Given the description of an element on the screen output the (x, y) to click on. 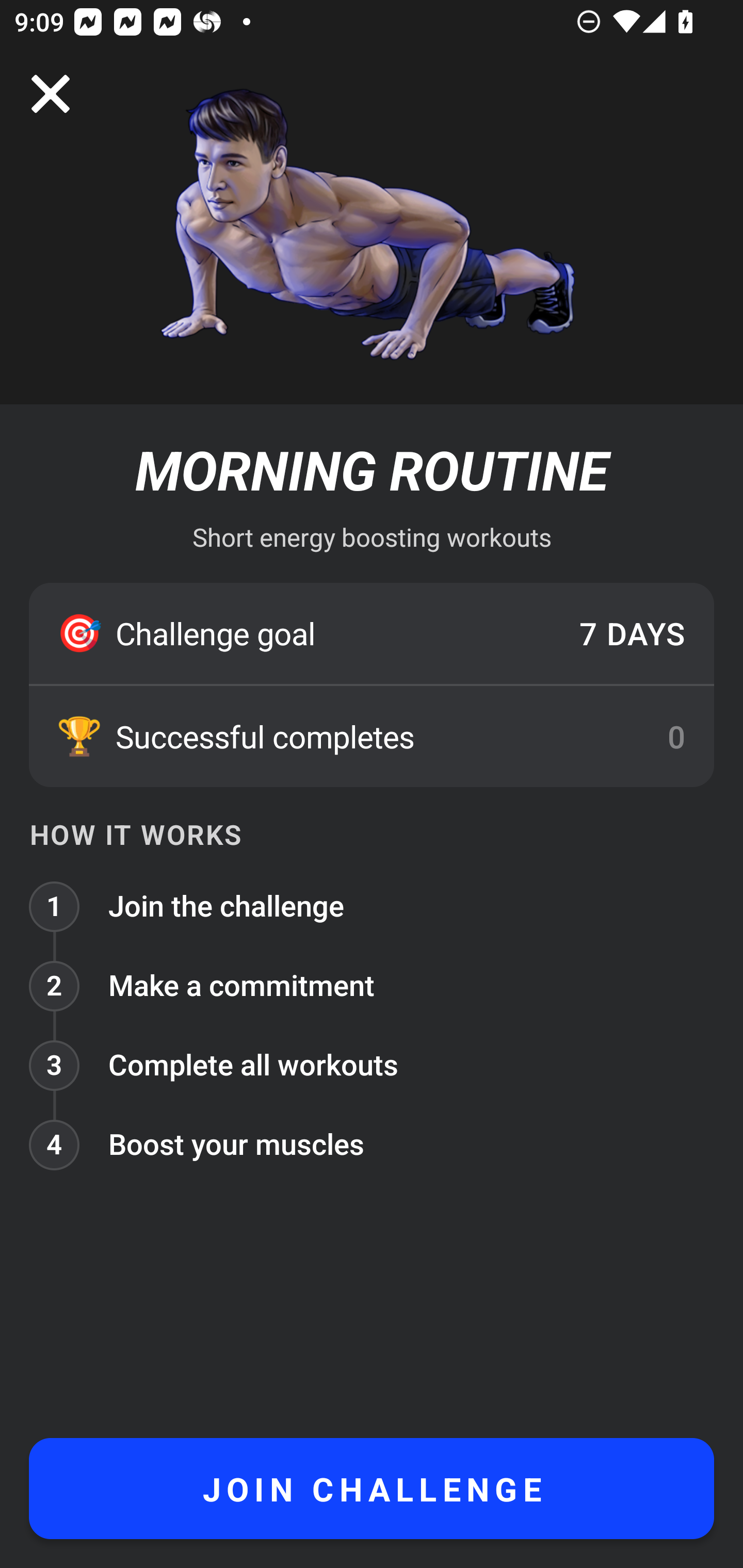
Close (50, 93)
JOIN CHALLENGE (371, 1488)
